Given the description of an element on the screen output the (x, y) to click on. 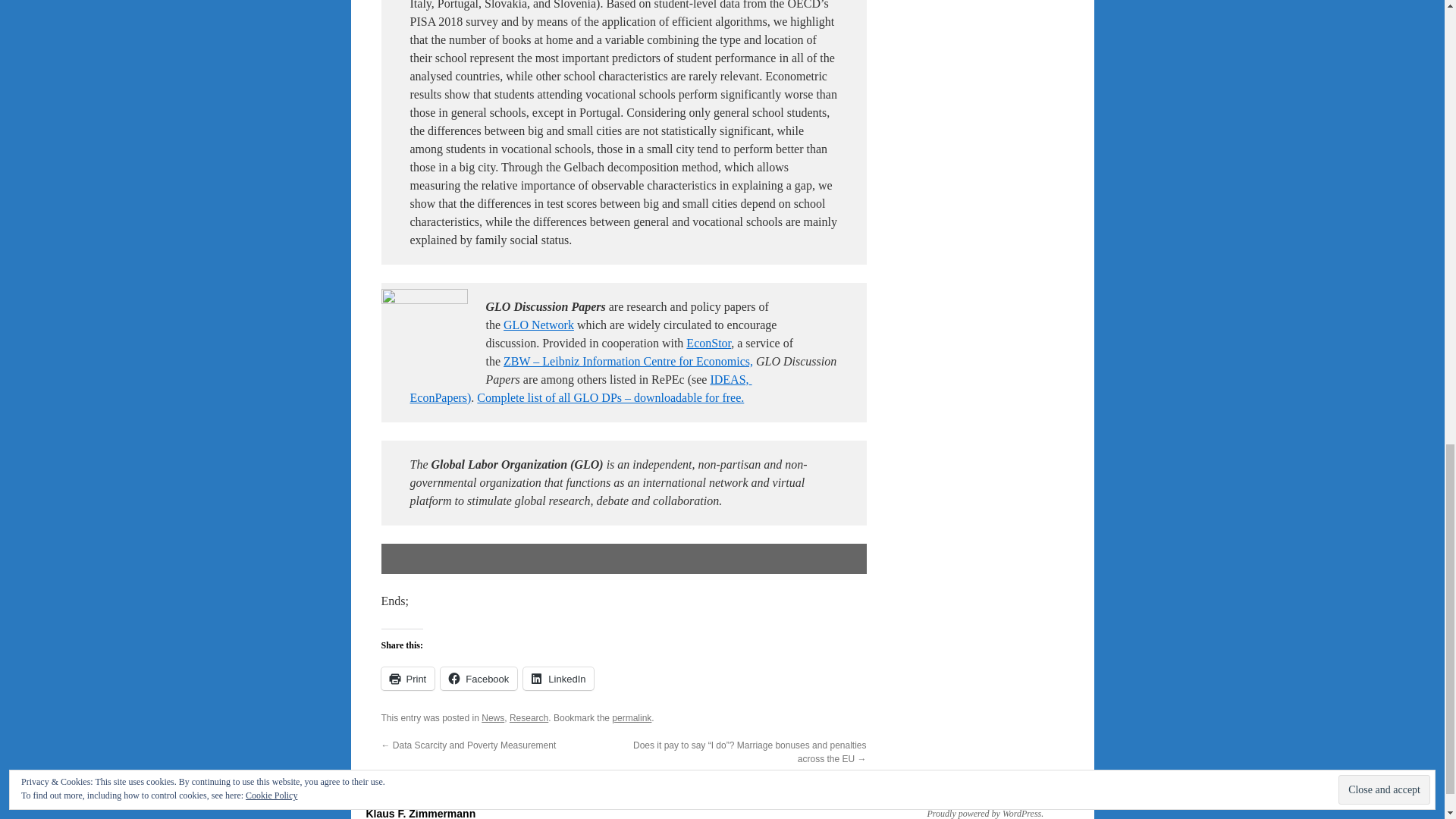
Click to share on Facebook (478, 678)
LinkedIn (558, 678)
News (492, 717)
EconStor (707, 342)
Click to share on LinkedIn (558, 678)
Facebook (478, 678)
Click to print (406, 678)
Print (406, 678)
IDEAS, (729, 379)
Research (528, 717)
